Given the description of an element on the screen output the (x, y) to click on. 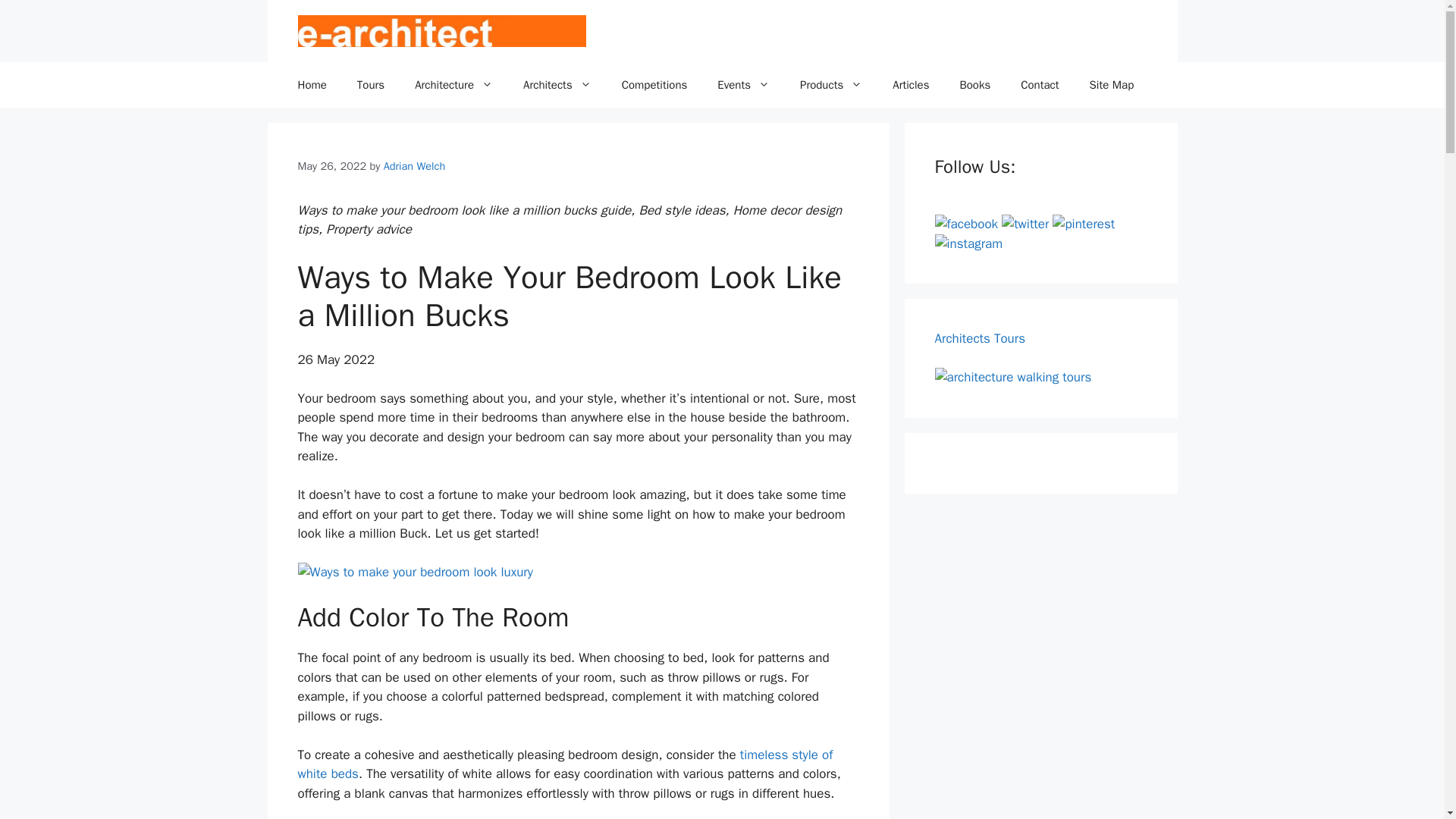
timeless style of white beds (564, 764)
pinterest (1083, 224)
Books (974, 84)
Articles (910, 84)
Adrian Welch (414, 165)
Site Map (1112, 84)
Events (742, 84)
Architects (557, 84)
facebook (965, 224)
Architecture (453, 84)
